Given the description of an element on the screen output the (x, y) to click on. 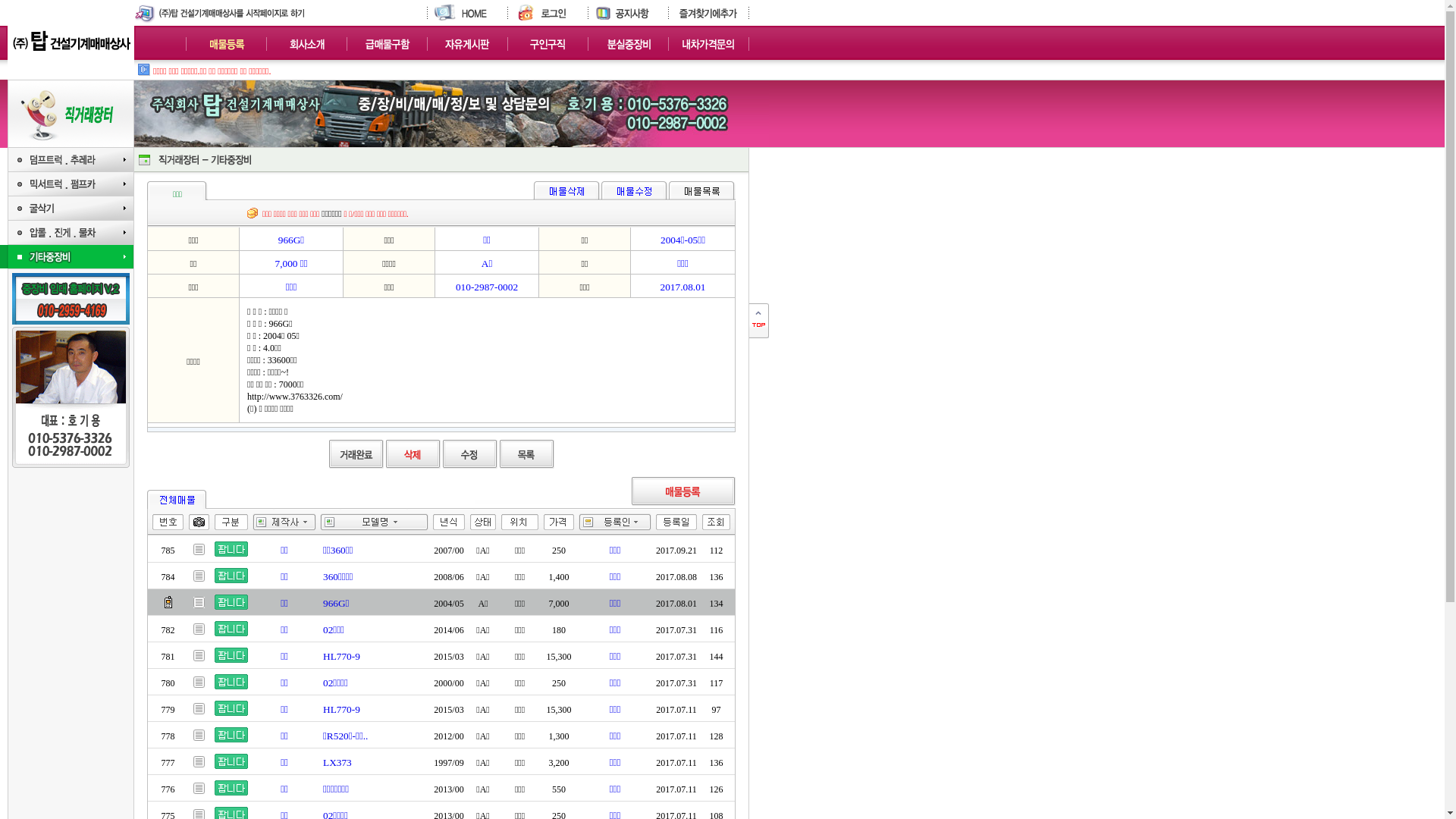
HL770-9 Element type: text (341, 709)
HL770-9 Element type: text (341, 656)
LX373 Element type: text (337, 762)
